Given the description of an element on the screen output the (x, y) to click on. 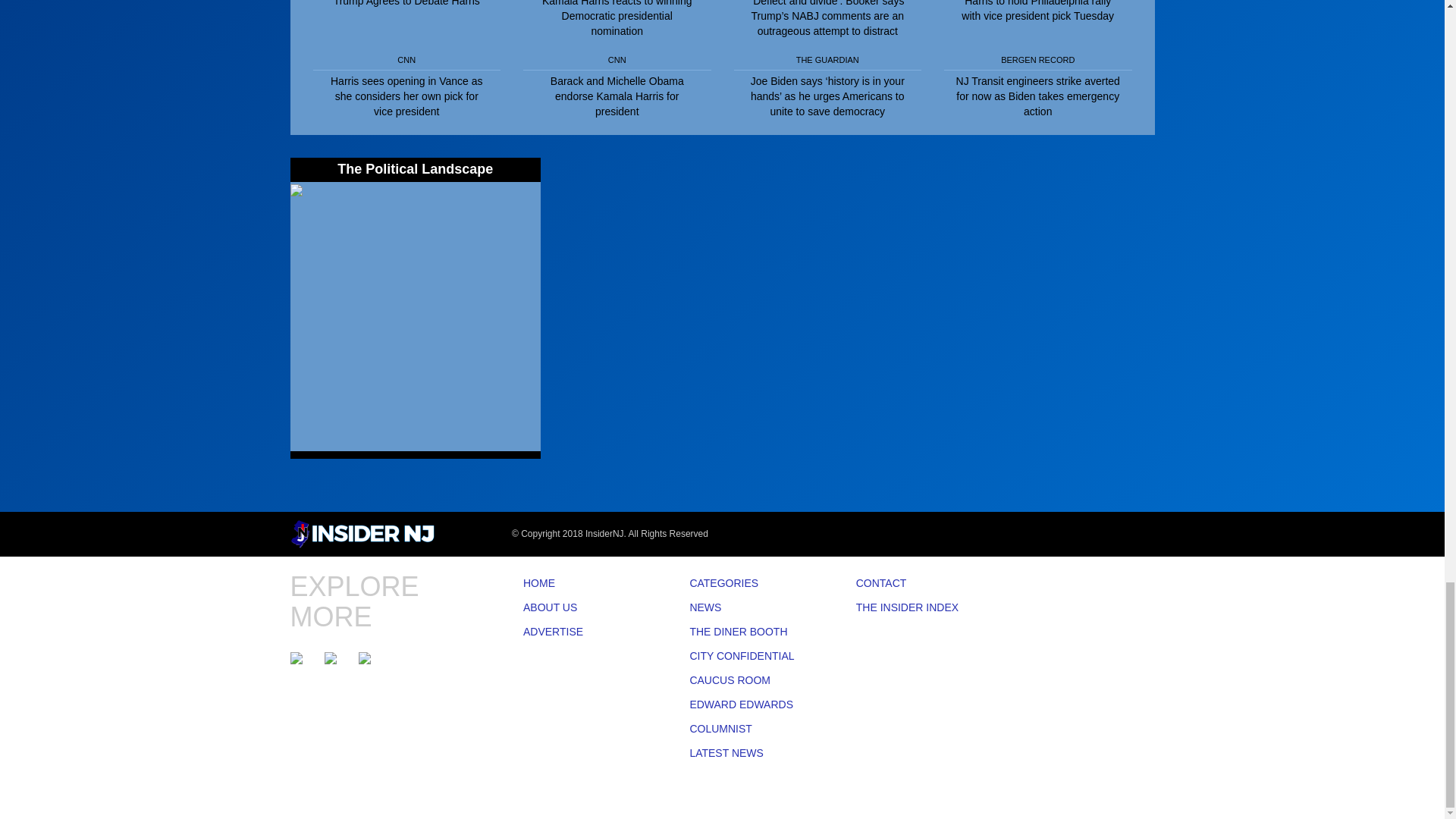
Categories (749, 583)
News (749, 607)
Advertise (583, 631)
About Us (583, 607)
Home (583, 583)
